Given the description of an element on the screen output the (x, y) to click on. 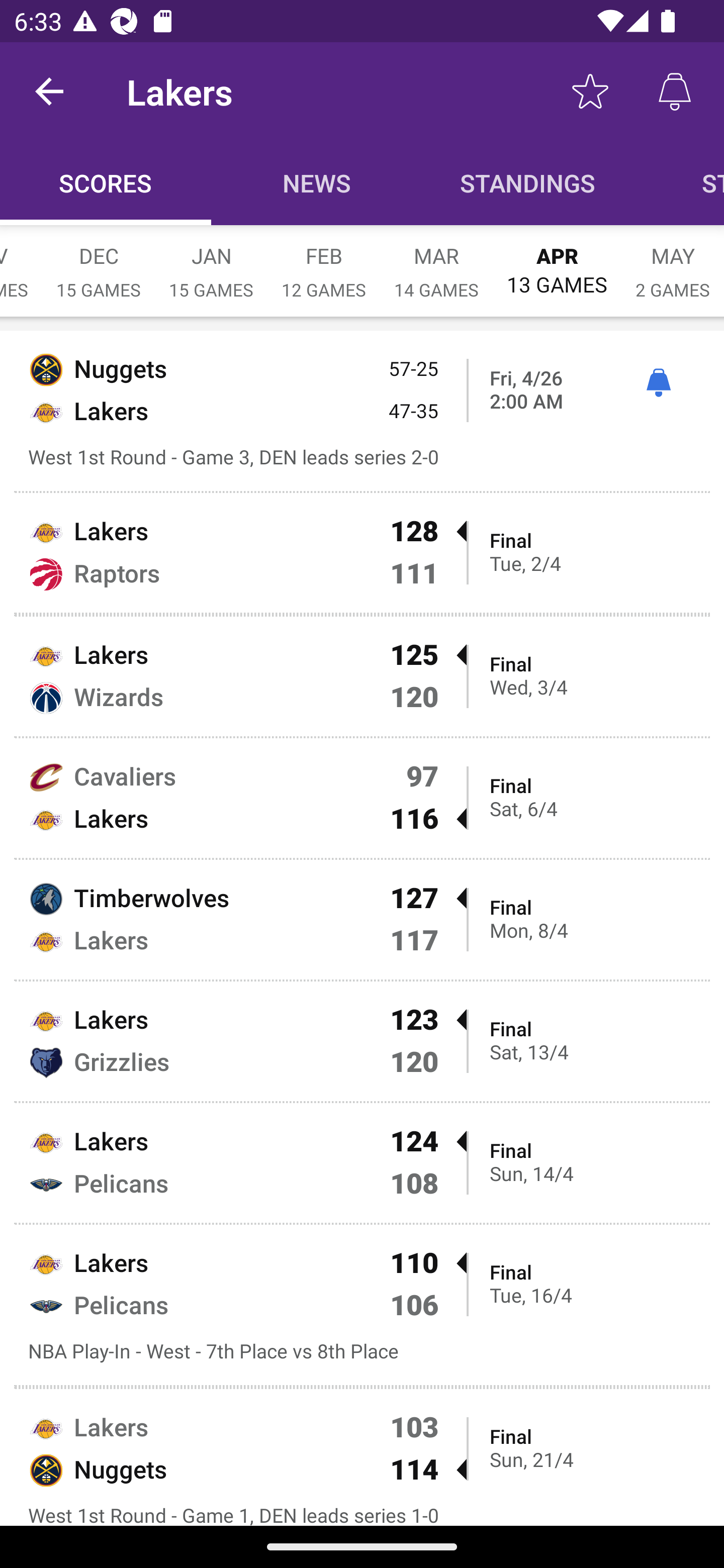
back.button (49, 90)
Favorite toggle (590, 90)
Alerts (674, 90)
News NEWS (316, 183)
Standings STANDINGS (527, 183)
DEC 15 GAMES (97, 262)
JAN 15 GAMES (210, 262)
FEB 12 GAMES (323, 262)
MAR 14 GAMES (436, 262)
APR 13 GAMES (557, 261)
MAY 2 GAMES (672, 262)
ì (658, 382)
Lakers 128  Raptors 111 Final Tue, 2/4 (362, 552)
Lakers 125  Wizards 120 Final Wed, 3/4 (362, 676)
Cavaliers 97 Lakers 116  Final Sat, 6/4 (362, 797)
Timberwolves 127  Lakers 117 Final Mon, 8/4 (362, 919)
Lakers 123  Grizzlies 120 Final Sat, 13/4 (362, 1040)
Lakers 124  Pelicans 108 Final Sun, 14/4 (362, 1163)
